Given the description of an element on the screen output the (x, y) to click on. 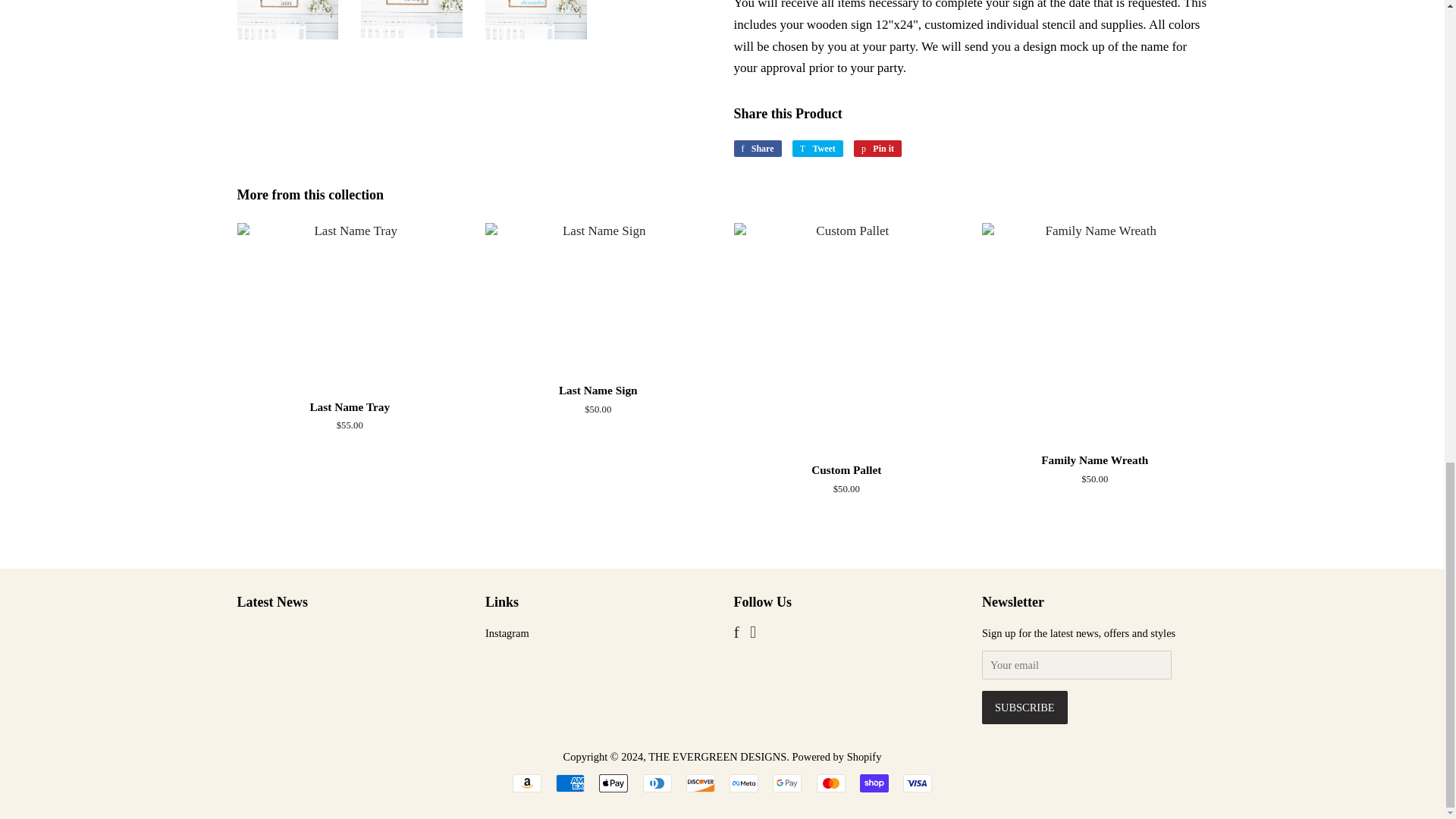
Mastercard (830, 782)
Amazon (526, 782)
Google Pay (787, 782)
Meta Pay (743, 782)
Apple Pay (612, 782)
Pin on Pinterest (877, 148)
Share on Facebook (757, 148)
Tweet on Twitter (817, 148)
Shop Pay (874, 782)
Discover (699, 782)
Subscribe (1024, 707)
American Express (570, 782)
Visa (916, 782)
Diners Club (657, 782)
